Given the description of an element on the screen output the (x, y) to click on. 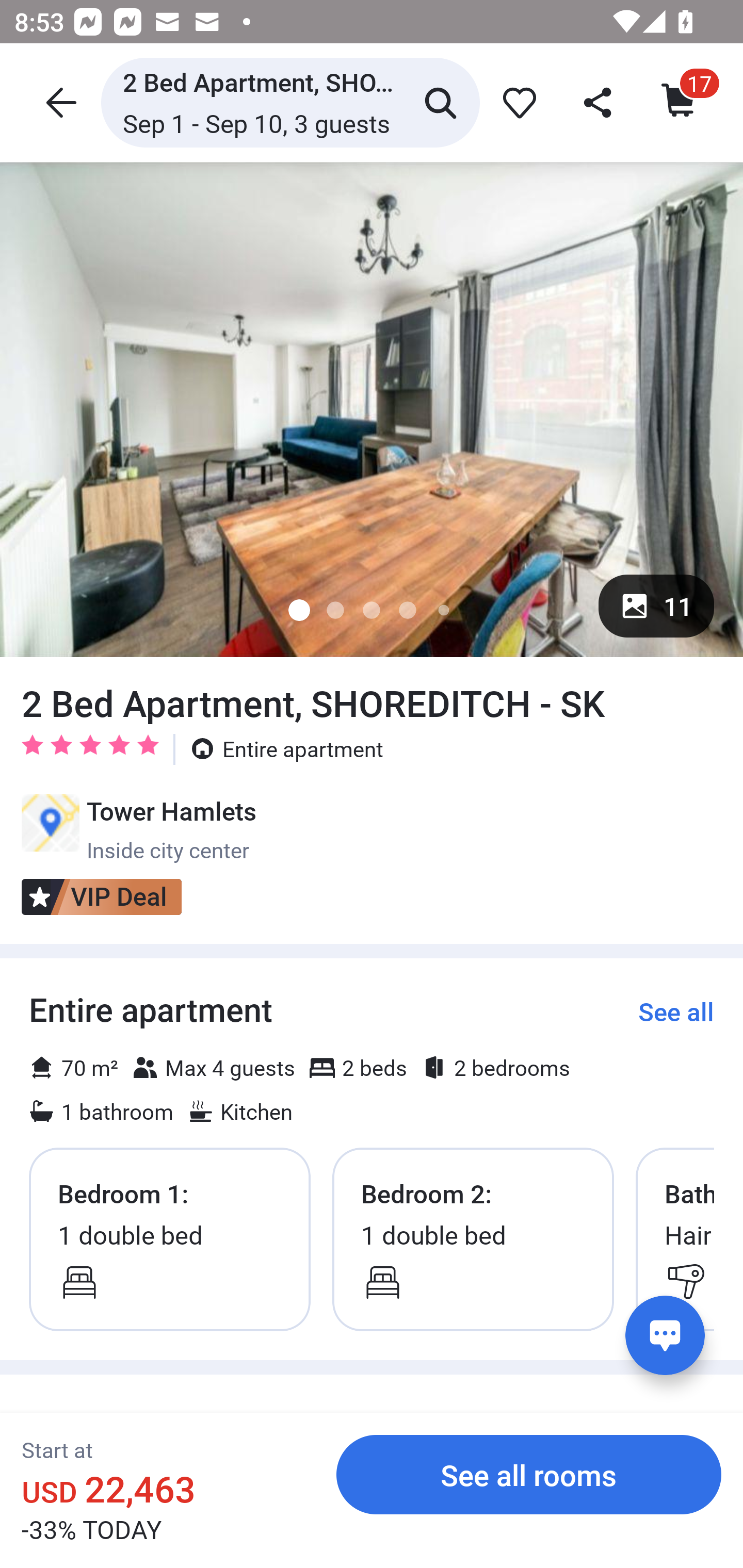
header icon (59, 102)
favorite_icon 0dbe6efb (515, 102)
share_header_icon (598, 102)
Cart icon cart_item_count 17 (679, 102)
image (371, 408)
11 (656, 605)
Tower Hamlets Inside city center (139, 829)
See all (676, 1011)
See all rooms (528, 1474)
